Given the description of an element on the screen output the (x, y) to click on. 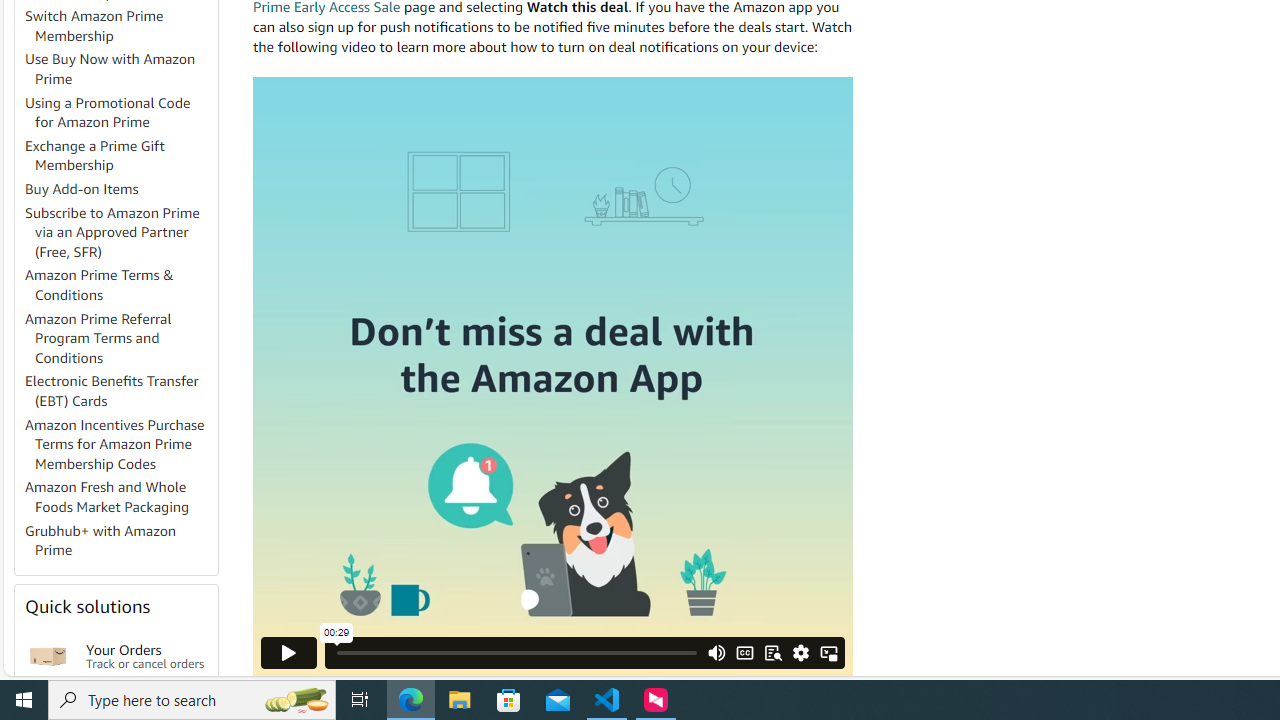
Your Orders Track or cancel orders (145, 656)
Grubhub+ with Amazon Prime (100, 540)
Amazon Prime Terms & Conditions (120, 285)
Exchange a Prime Gift Membership (120, 156)
Transcript (772, 652)
